Given the description of an element on the screen output the (x, y) to click on. 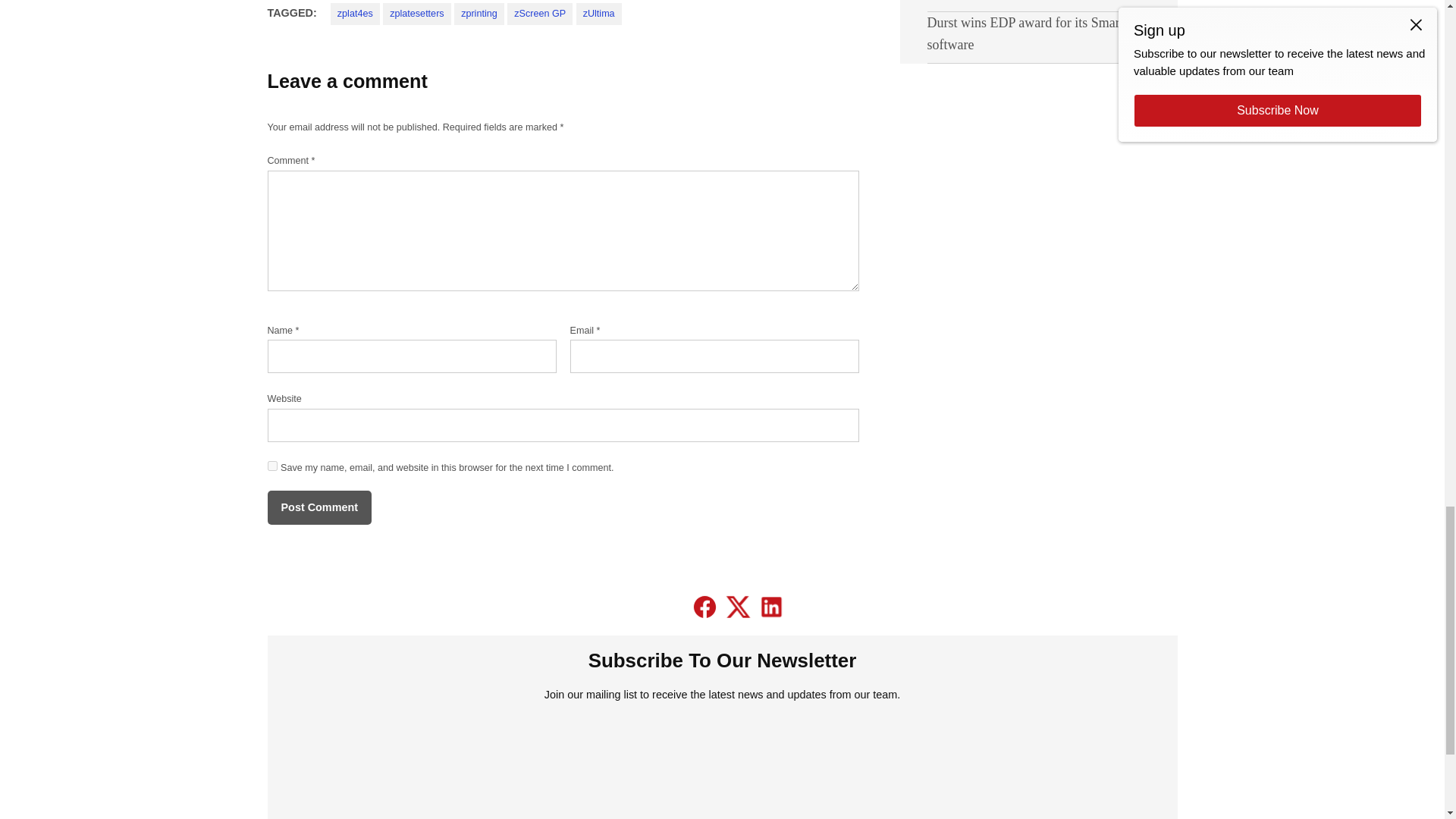
Post Comment (318, 507)
zplatesetters (415, 14)
Form 1 (722, 766)
zplat4es (355, 14)
Post Comment (318, 507)
zScreen GP (539, 14)
yes (271, 465)
zUltima (598, 14)
zprinting (478, 14)
